Given the description of an element on the screen output the (x, y) to click on. 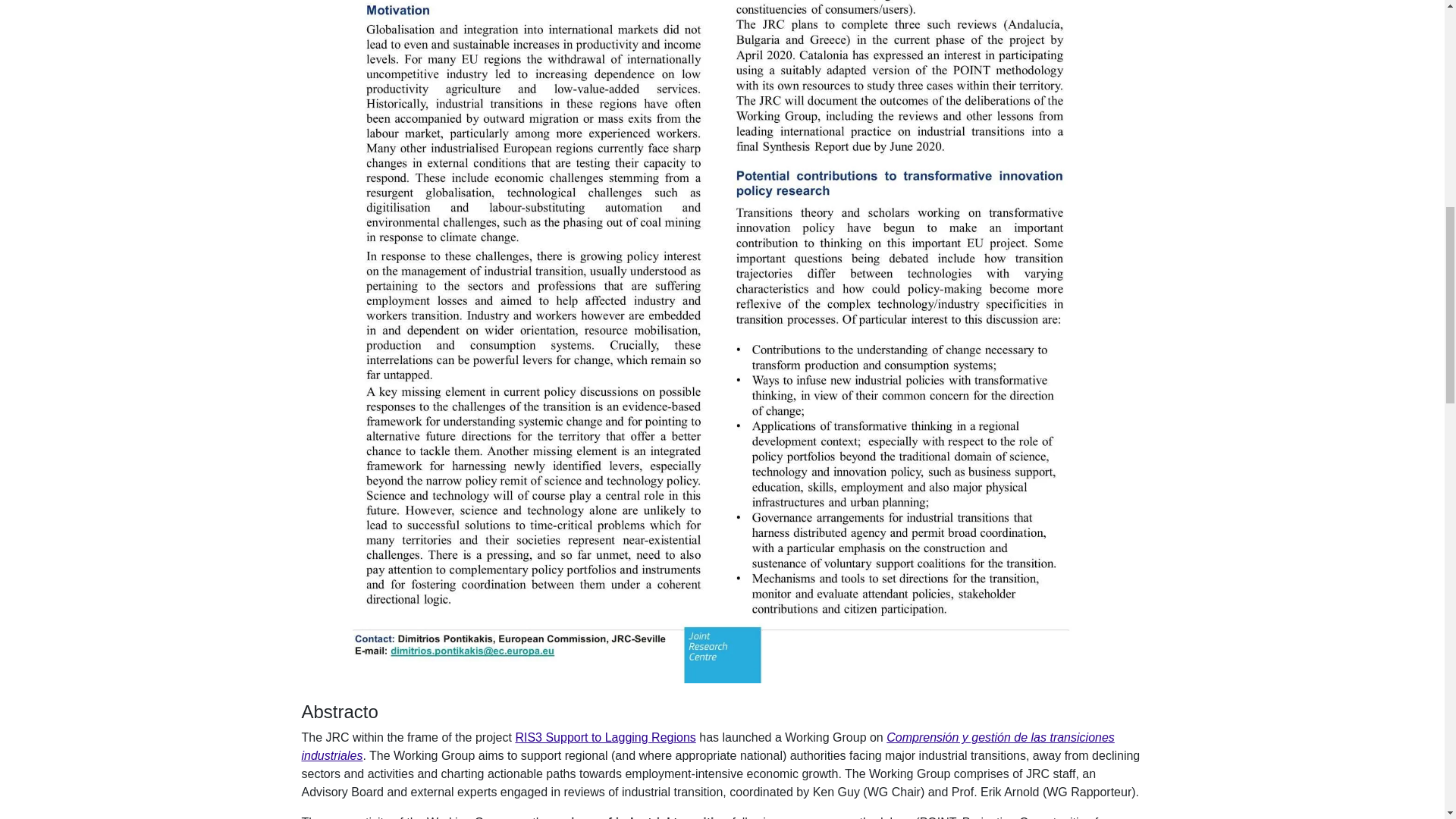
RIS3 Support to Lagging Regions (605, 737)
